Given the description of an element on the screen output the (x, y) to click on. 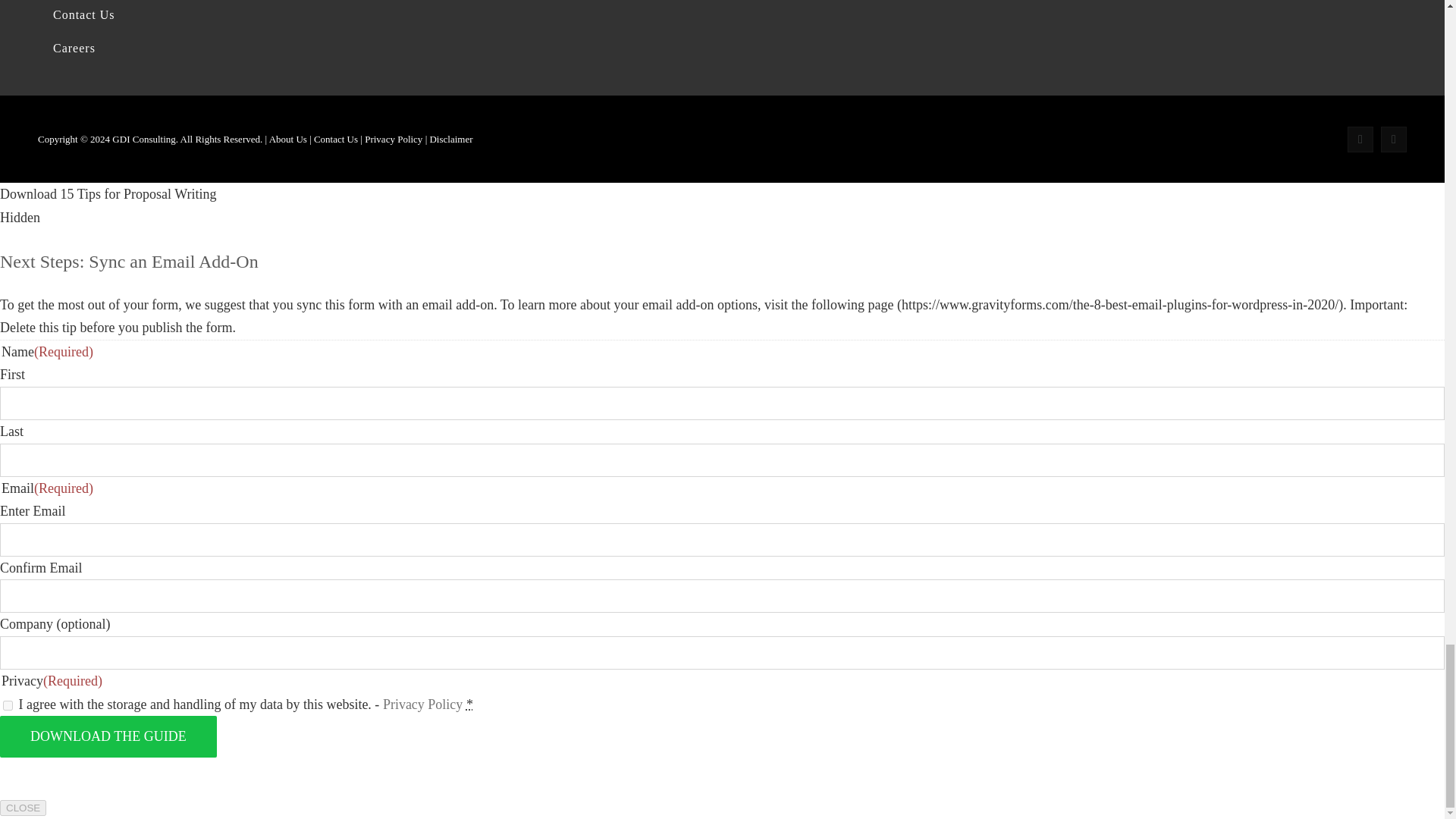
Download The Guide (108, 736)
